Given the description of an element on the screen output the (x, y) to click on. 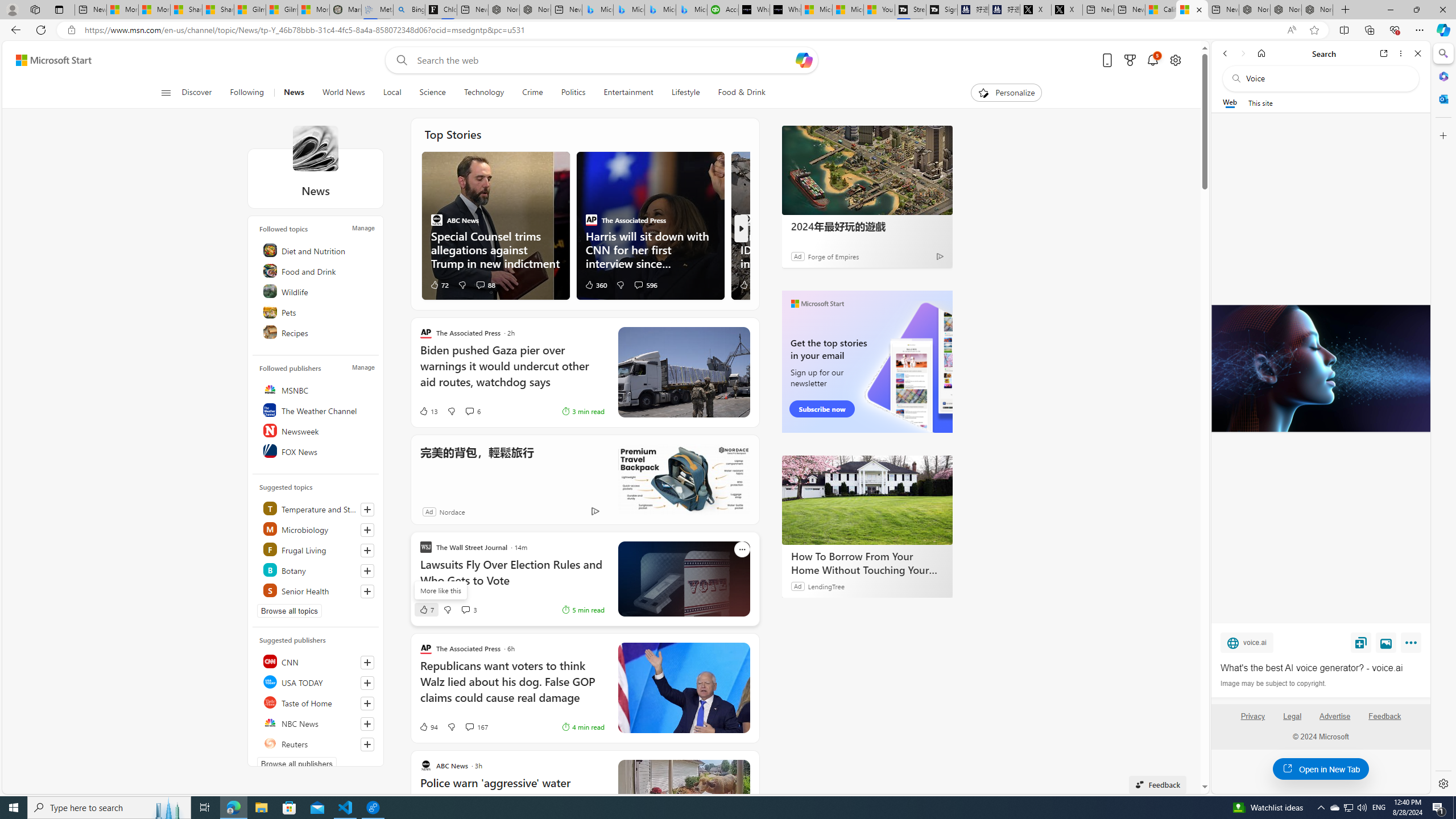
Subscribe now (821, 408)
voice.ai (1247, 642)
Nordace - Siena Pro 15 Essential Set (1317, 9)
360 Like (595, 284)
Enter your search term (603, 59)
Newsweek (317, 430)
